Given the description of an element on the screen output the (x, y) to click on. 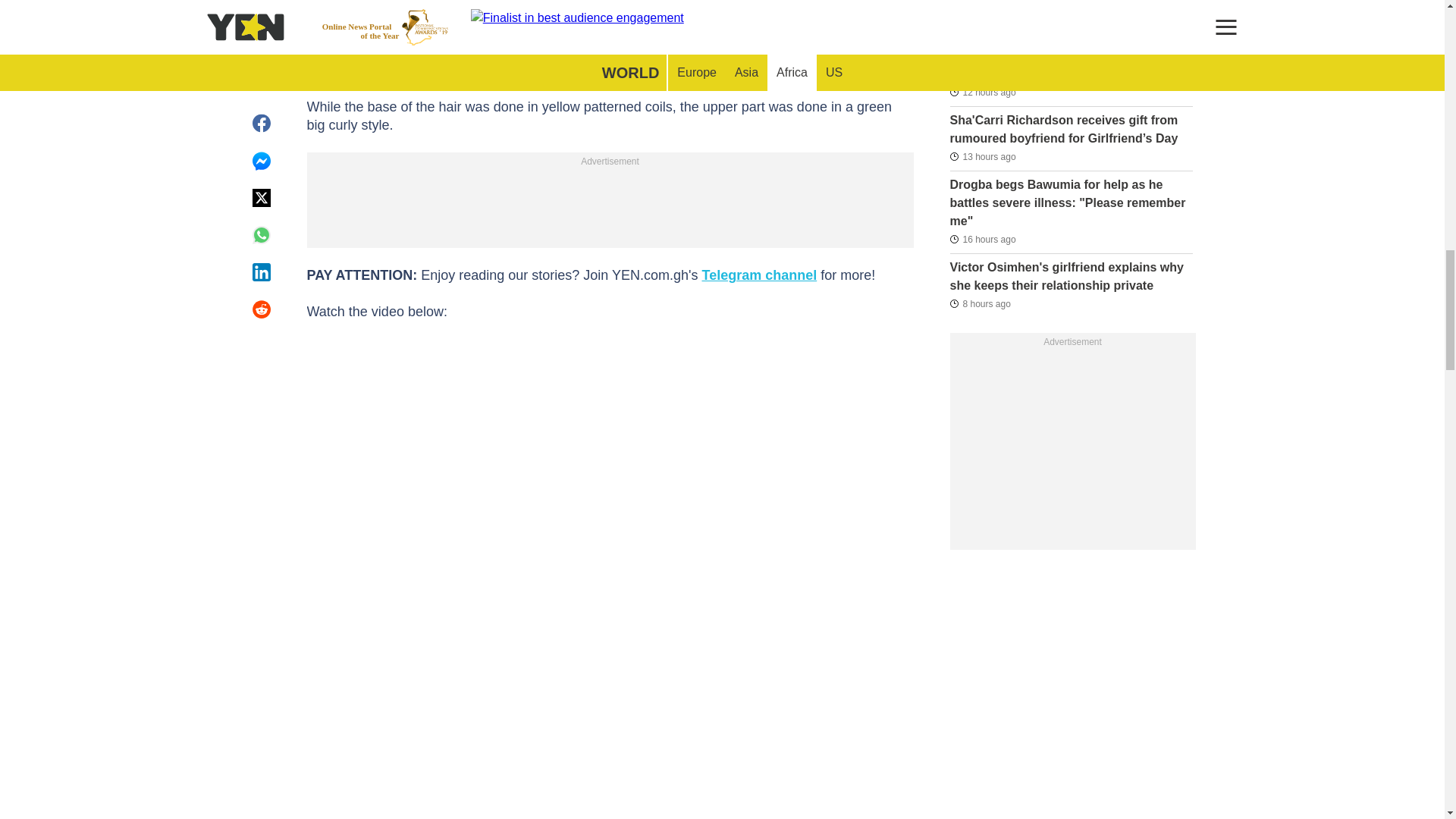
2024-08-03T10:32:45Z (981, 239)
2024-08-03T14:42:28Z (981, 92)
2024-08-03T10:00:02Z (981, 9)
2024-08-03T14:03:55Z (981, 156)
